Given the description of an element on the screen output the (x, y) to click on. 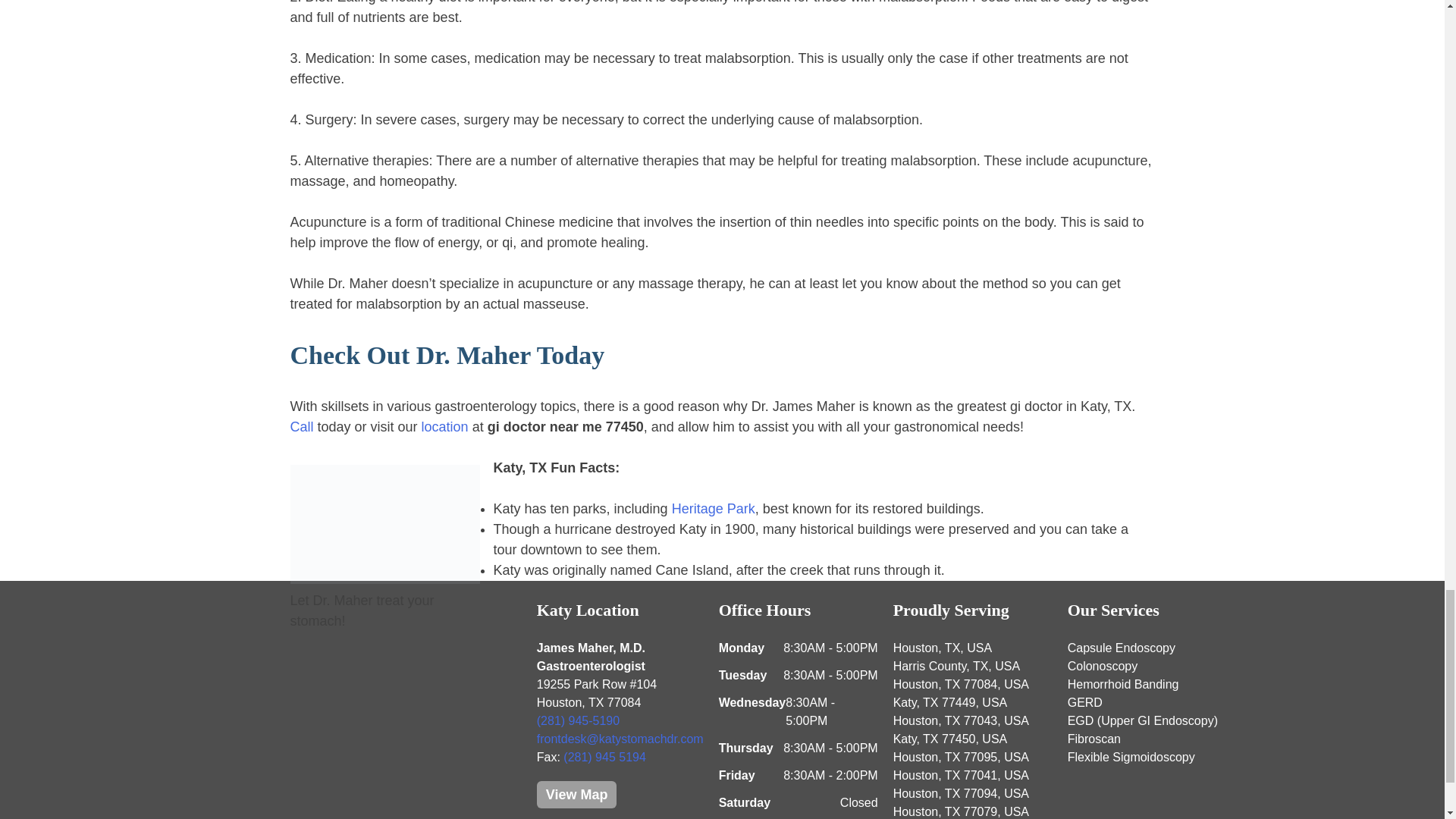
Heritage Park (713, 508)
Call (303, 426)
location (445, 426)
View Map (577, 794)
